Given the description of an element on the screen output the (x, y) to click on. 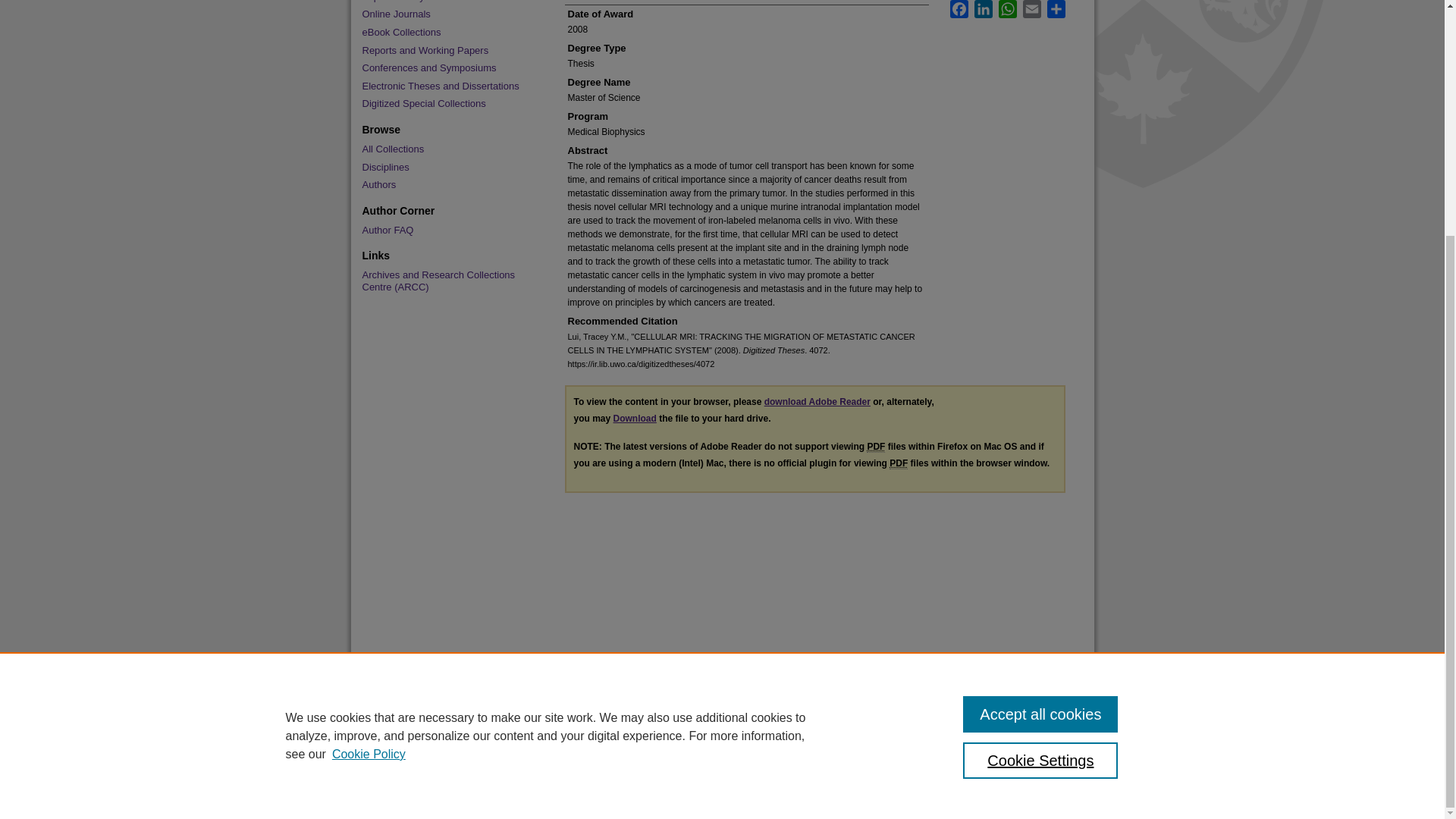
Share (1055, 9)
Adobe - Adobe Reader download (817, 401)
WhatsApp (1006, 9)
Download (634, 418)
Portable Document Format (875, 446)
eBook Collections (447, 32)
Online Journals (447, 14)
download Adobe Reader (817, 401)
Facebook (958, 9)
Expert Gallery (447, 1)
LinkedIn (982, 9)
Portable Document Format (898, 463)
Email (1031, 9)
